Given the description of an element on the screen output the (x, y) to click on. 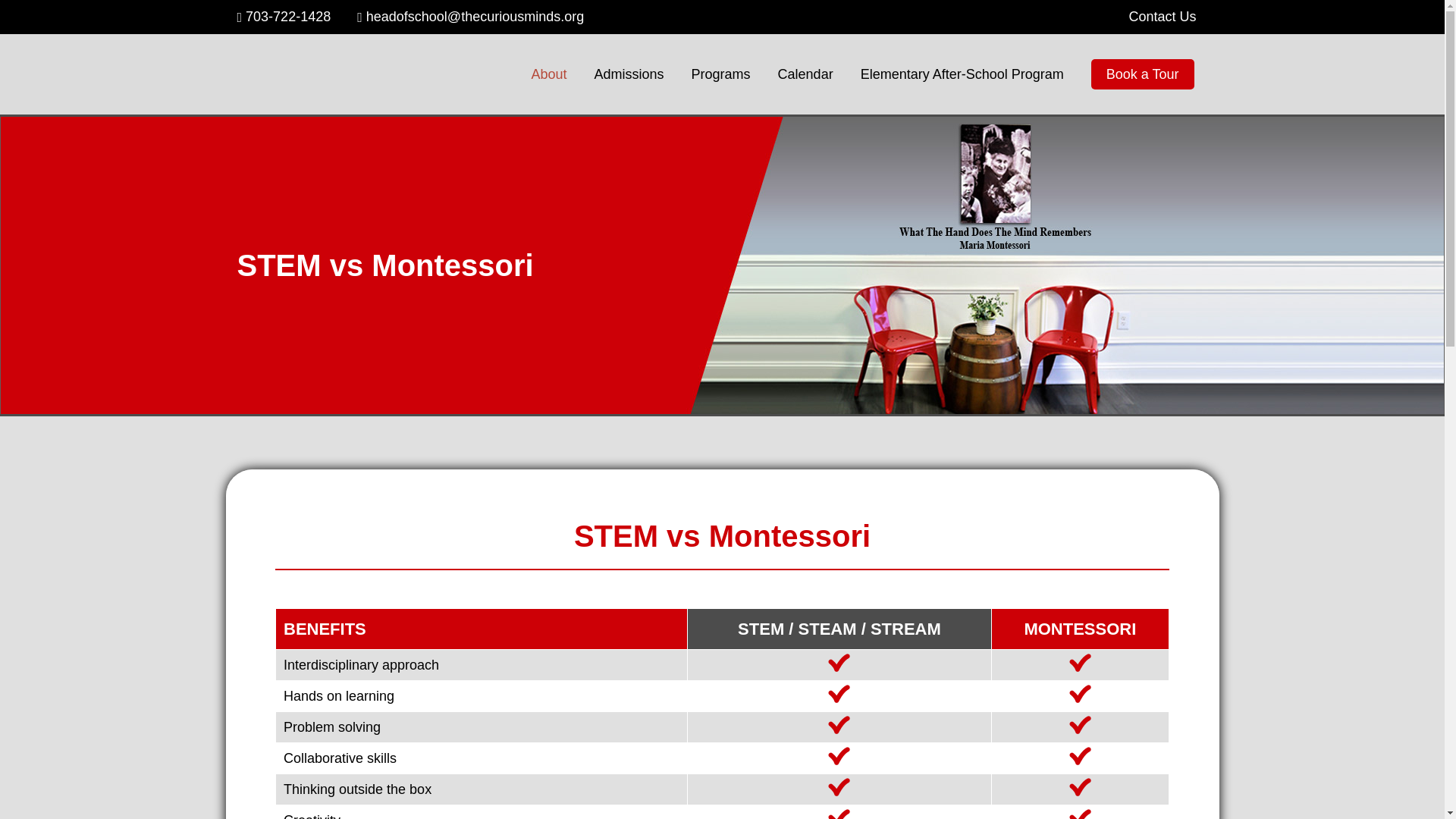
Programs (721, 74)
Book a Tour (1142, 74)
Admissions (629, 74)
Calendar (805, 74)
Elementary After-School Program (962, 74)
Contact Us (1150, 17)
